Given the description of an element on the screen output the (x, y) to click on. 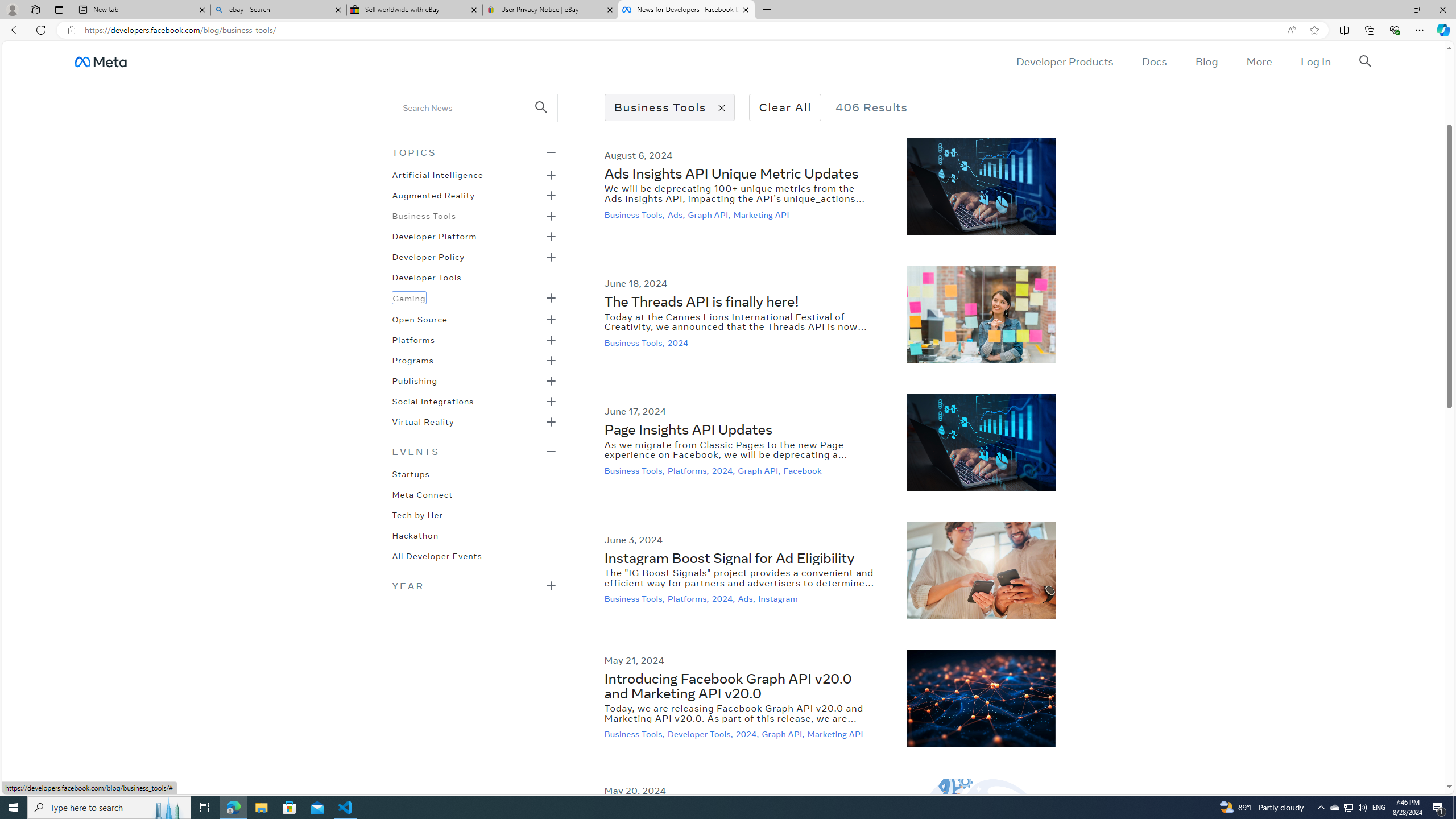
Ads, (748, 598)
Instagram (778, 598)
Developer Products (1064, 61)
Meta Connect (421, 493)
Sell worldwide with eBay (414, 9)
Marketing API (836, 733)
Class: _98ex (474, 559)
Artificial Intelligence (437, 173)
Gaming (408, 297)
